Given the description of an element on the screen output the (x, y) to click on. 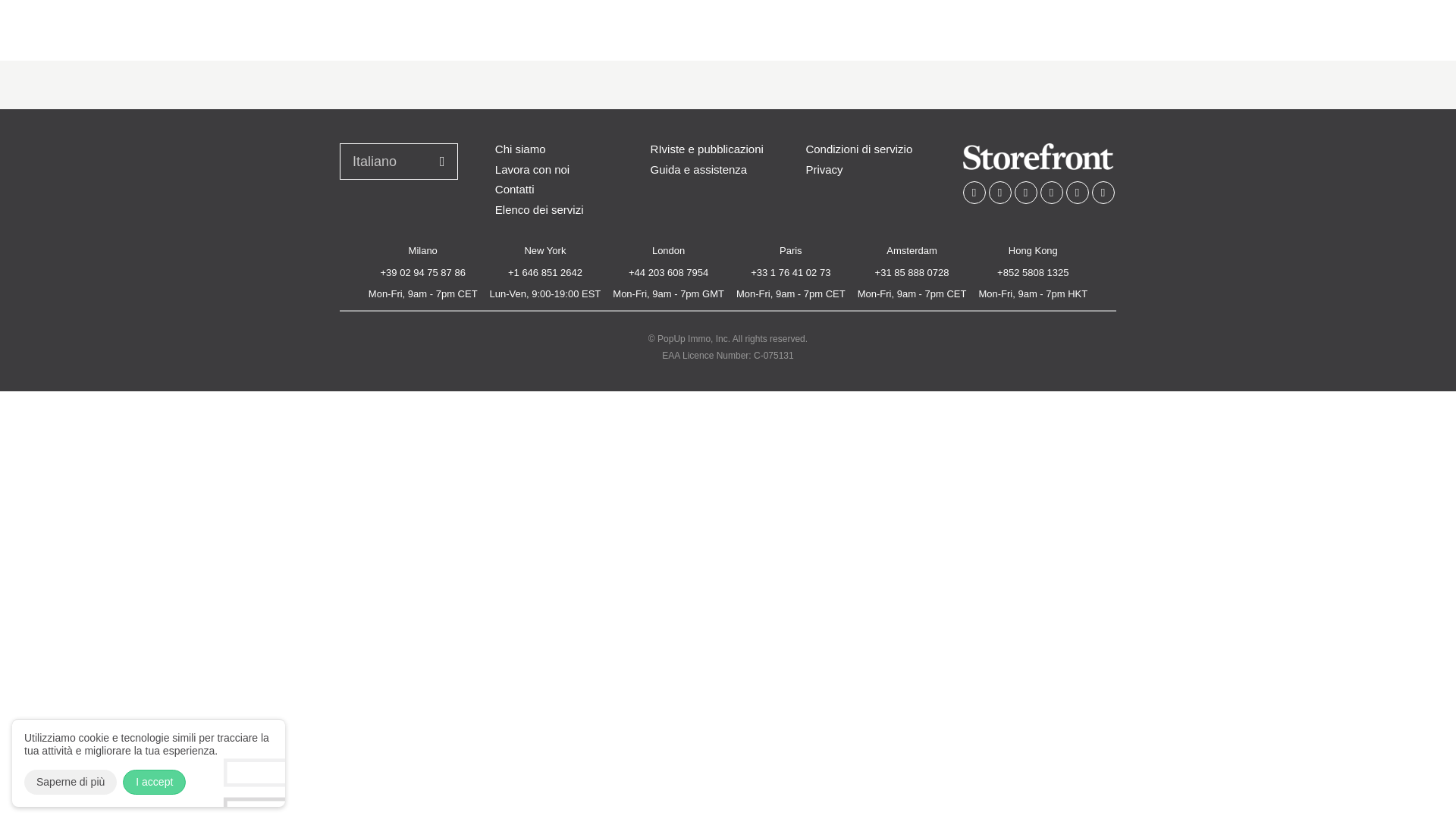
I accept (154, 781)
Elenco dei servizi (539, 210)
Condizioni di servizio (858, 149)
Privacy (824, 169)
Lavora con noi (532, 169)
Guida e assistenza (699, 169)
Contatti (514, 189)
RIviste e pubblicazioni (706, 149)
Chi siamo (520, 149)
